Given the description of an element on the screen output the (x, y) to click on. 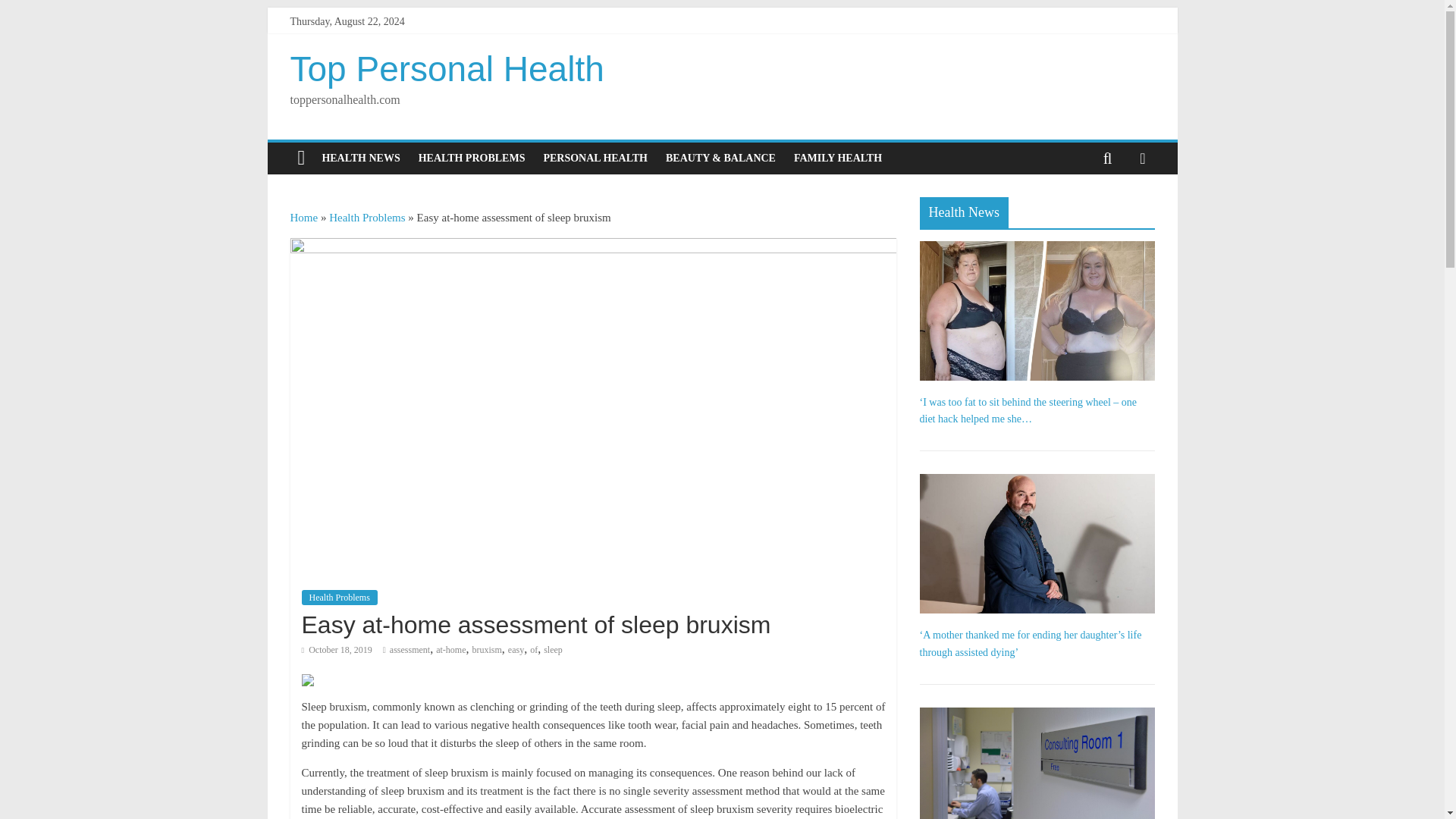
at-home (450, 649)
Top Personal Health (446, 68)
easy (516, 649)
Health Problems (339, 597)
assessment (409, 649)
FAMILY HEALTH (837, 158)
Health Problems (366, 217)
PERSONAL HEALTH (595, 158)
sleep (552, 649)
Home (303, 217)
